Given the description of an element on the screen output the (x, y) to click on. 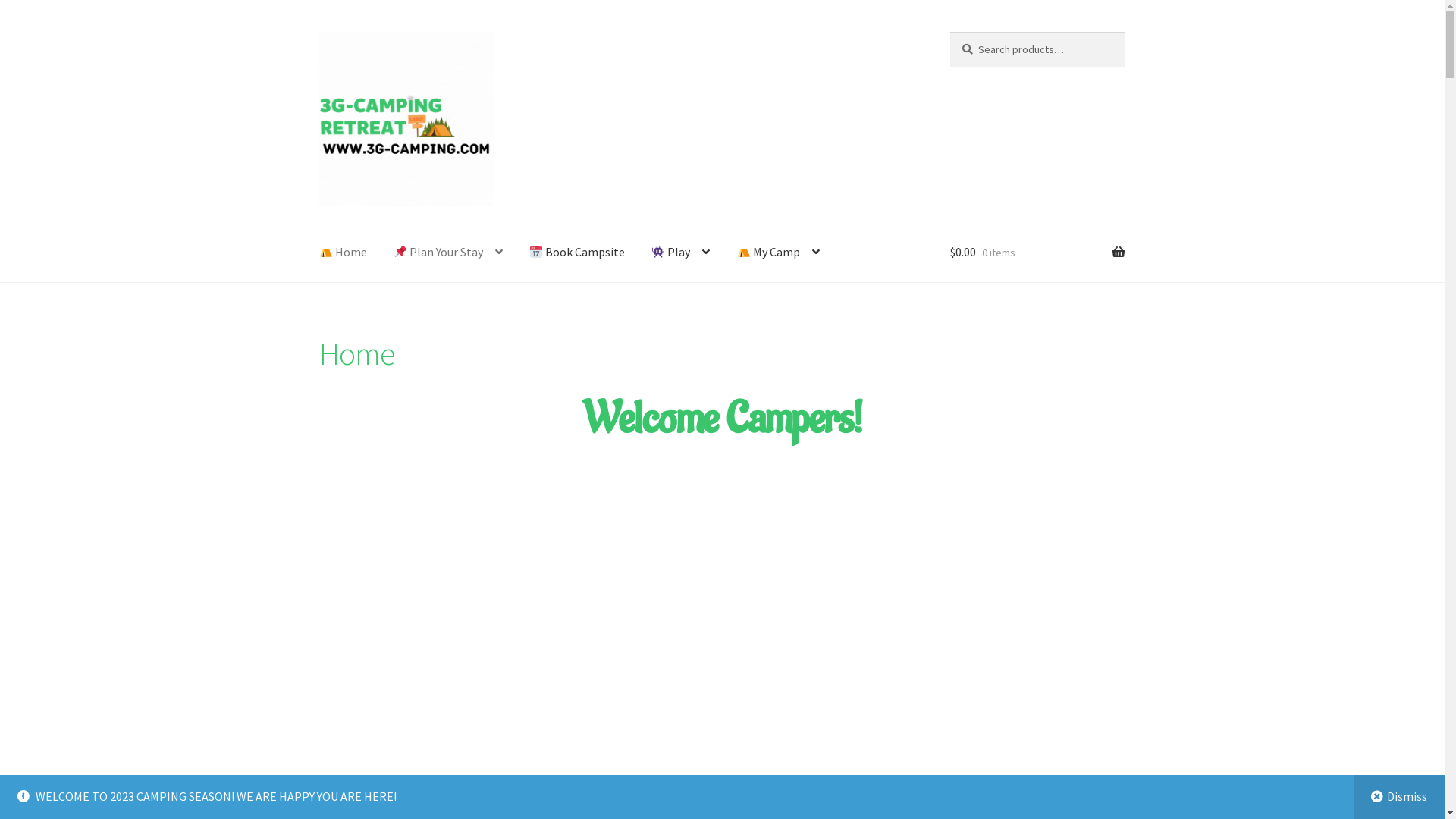
Search Element type: text (949, 31)
Play Element type: text (680, 252)
Book Campsite Element type: text (577, 252)
Home Element type: text (343, 252)
$0.00 0 items Element type: text (1037, 252)
My Camp Element type: text (777, 252)
Plan Your Stay Element type: text (447, 252)
